Given the description of an element on the screen output the (x, y) to click on. 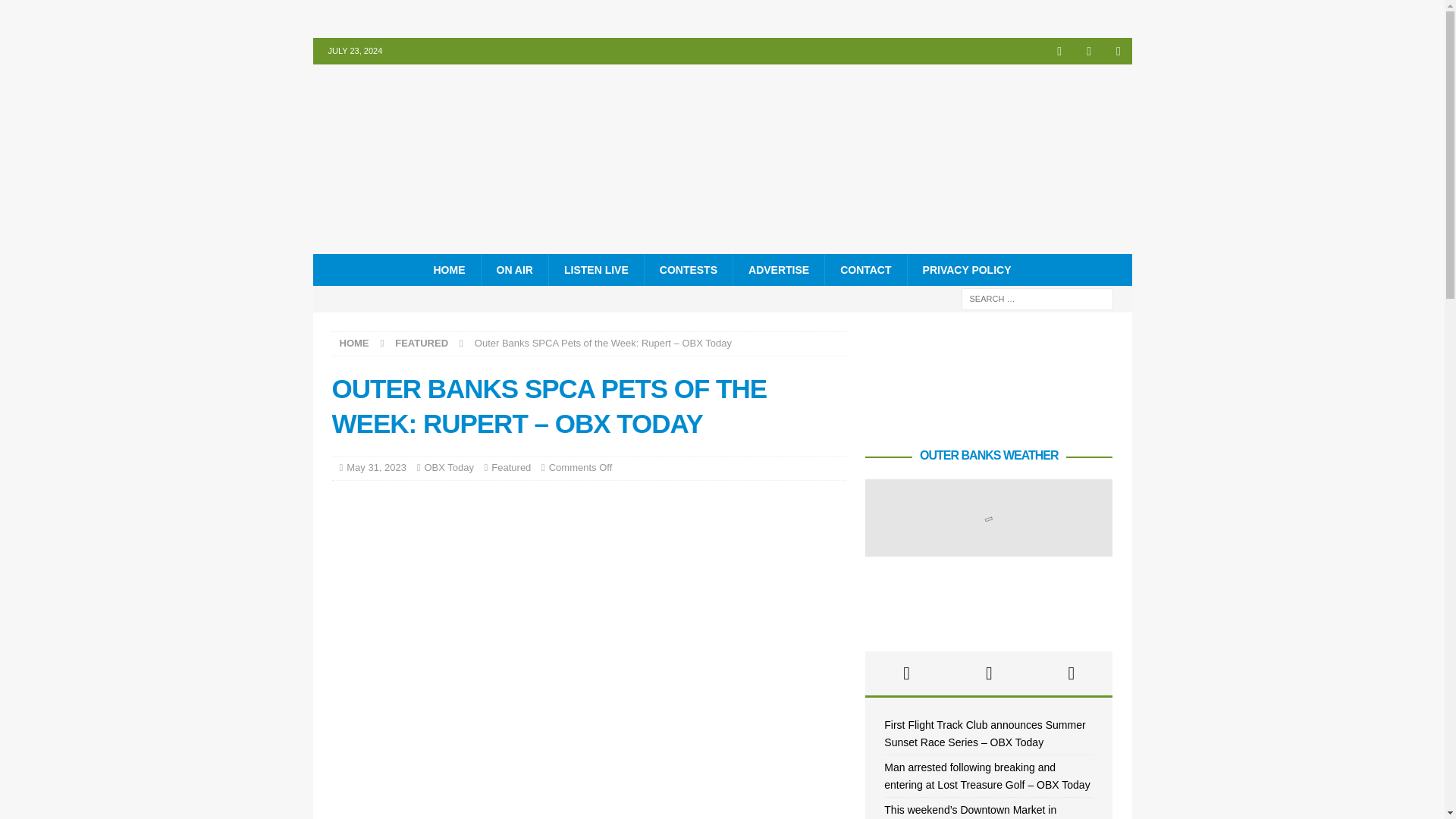
HOME (354, 342)
HOME (449, 269)
OBX Today (448, 467)
ON AIR (514, 269)
CONTESTS (687, 269)
Search (56, 11)
May 31, 2023 (376, 467)
99.1 The Sound (722, 245)
Featured (511, 467)
CONTACT (864, 269)
ADVERTISE (778, 269)
FEATURED (421, 342)
LISTEN LIVE (595, 269)
PRIVACY POLICY (966, 269)
